Given the description of an element on the screen output the (x, y) to click on. 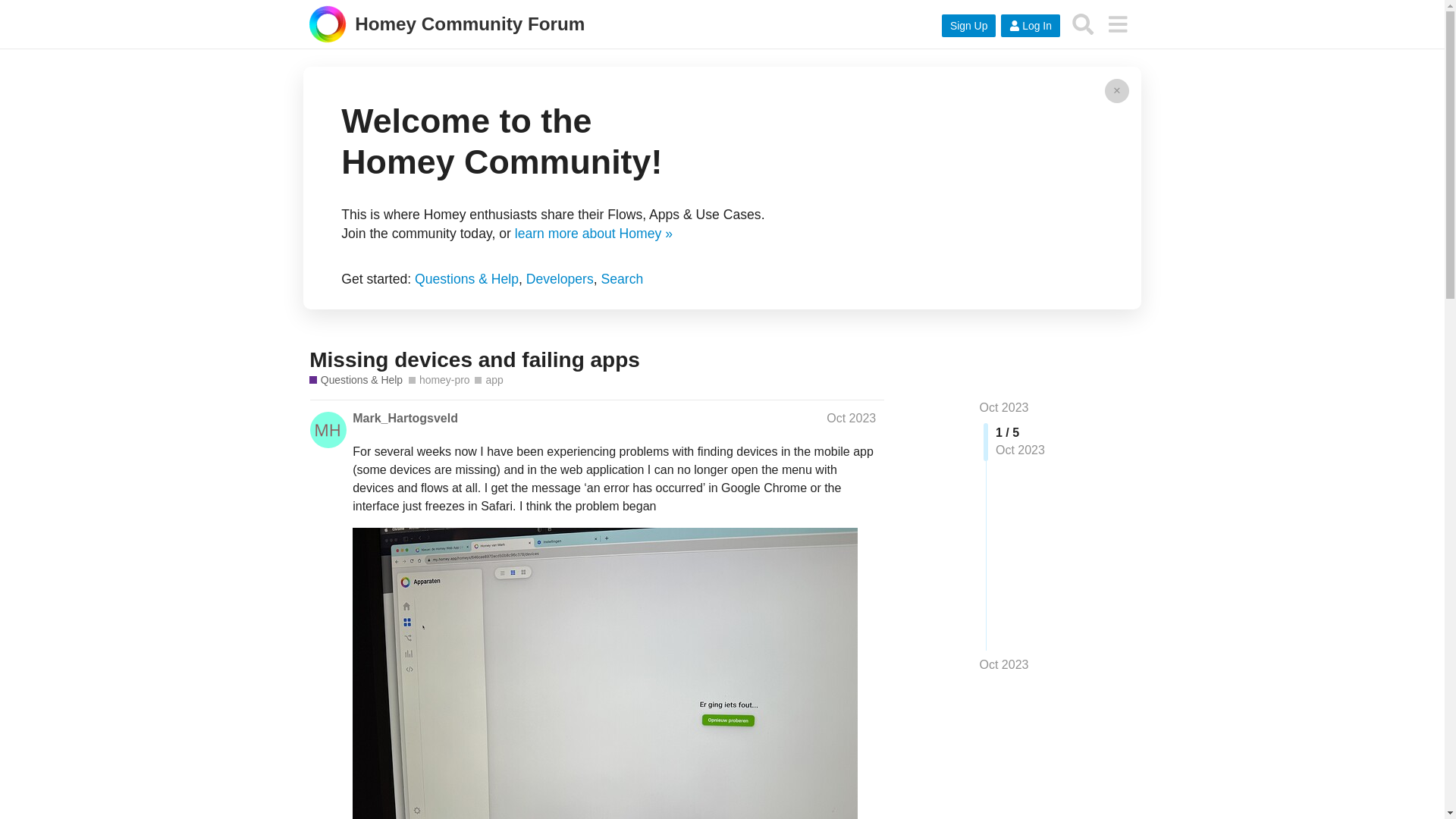
Search (1082, 23)
Missing devices and failing apps (474, 359)
app (488, 380)
homey-pro (438, 380)
Oct 2023 (851, 418)
Homey Community Forum (446, 25)
Sign Up (968, 25)
Oct 2023 (1004, 407)
Oct 2023 (1004, 664)
Log In (1030, 25)
